Given the description of an element on the screen output the (x, y) to click on. 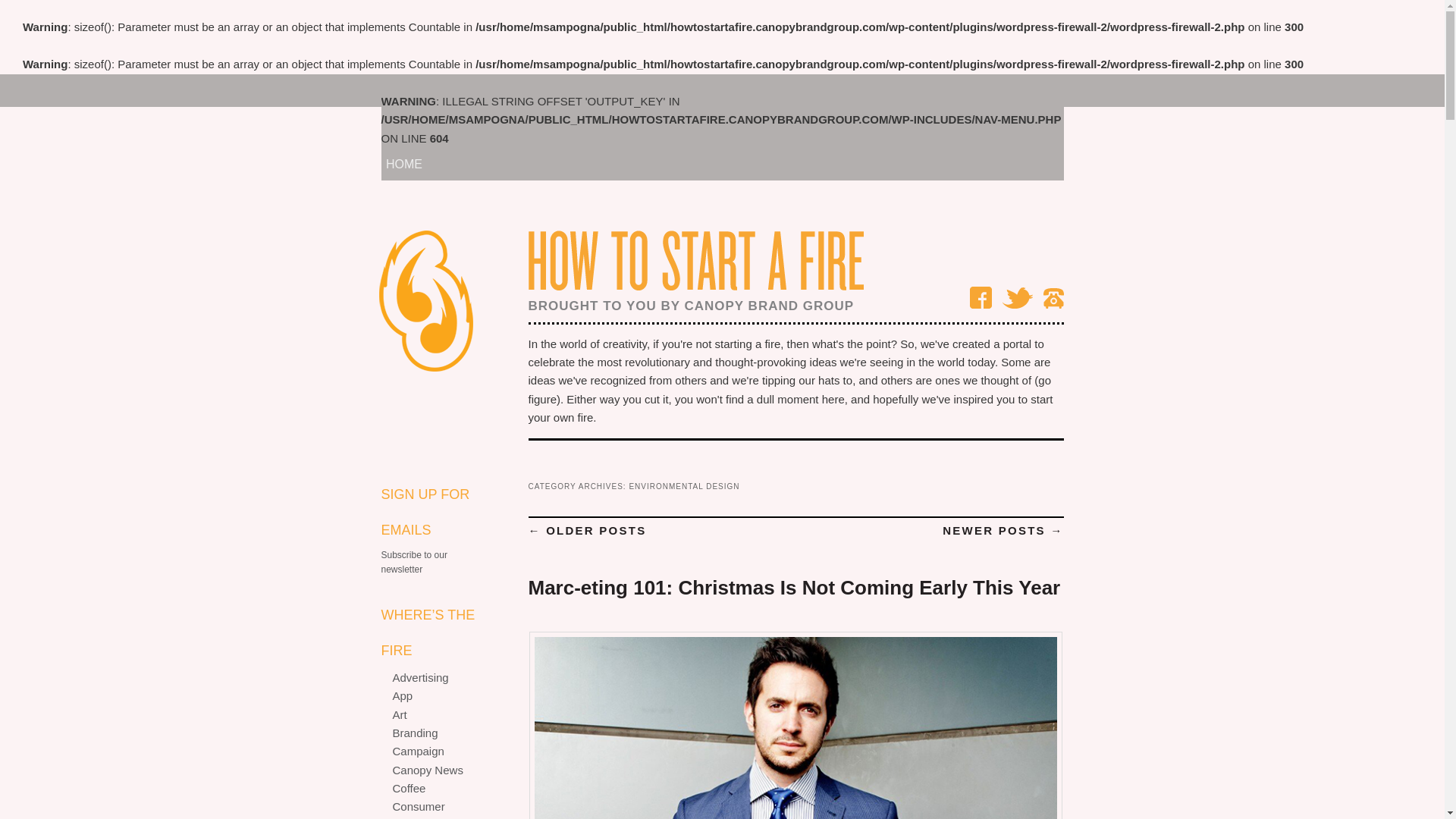
Skip to secondary content (482, 90)
SKIP TO PRIMARY CONTENT (472, 90)
Skip to primary content (472, 90)
SKIP TO SECONDARY CONTENT (482, 90)
Marc-eting 101: Christmas Is Not Coming Early This Year (793, 587)
HOME (404, 164)
